Given the description of an element on the screen output the (x, y) to click on. 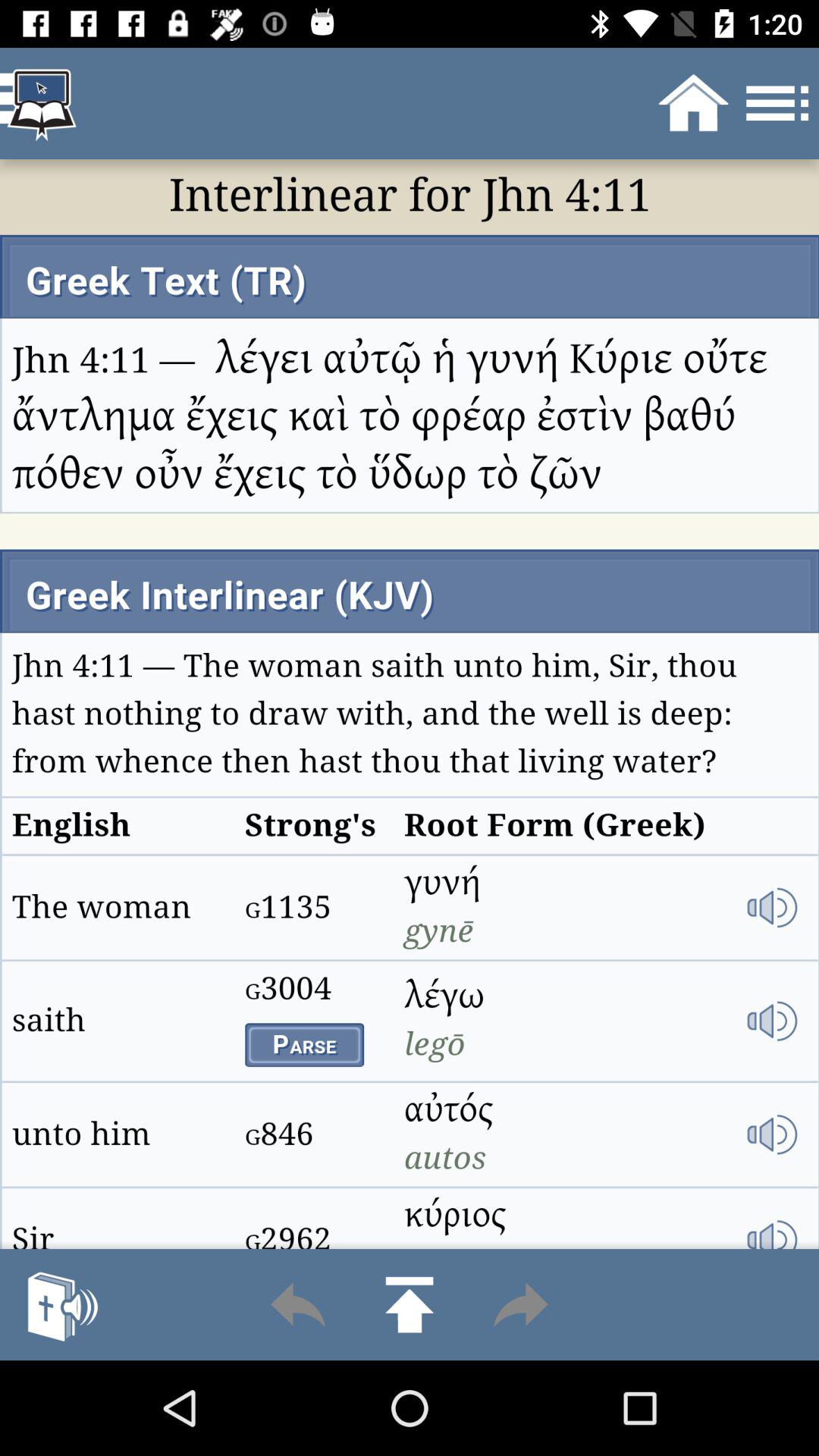
click the forward option (520, 1304)
